Given the description of an element on the screen output the (x, y) to click on. 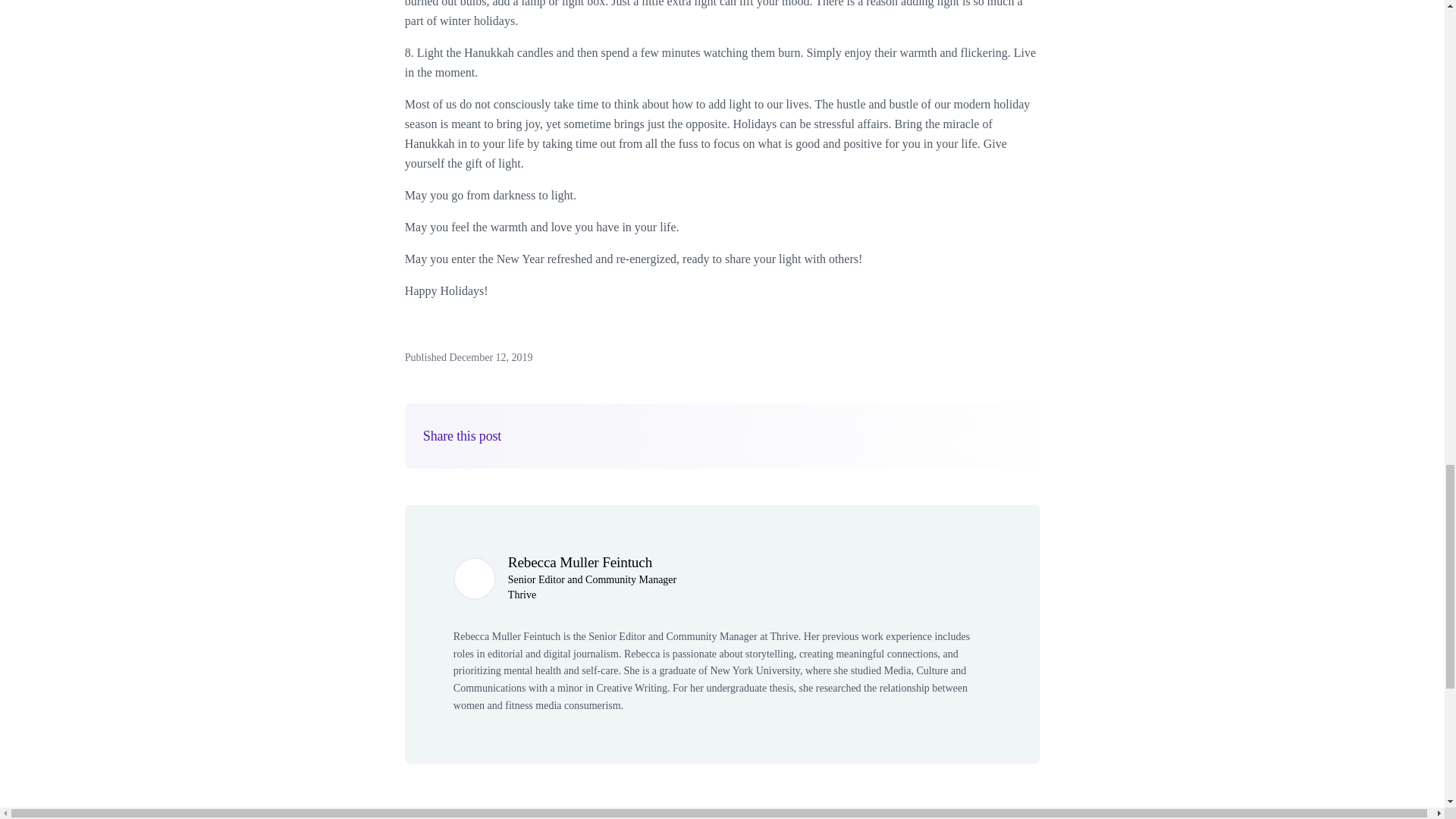
Rebecca Muller Feintuch (580, 562)
